Given the description of an element on the screen output the (x, y) to click on. 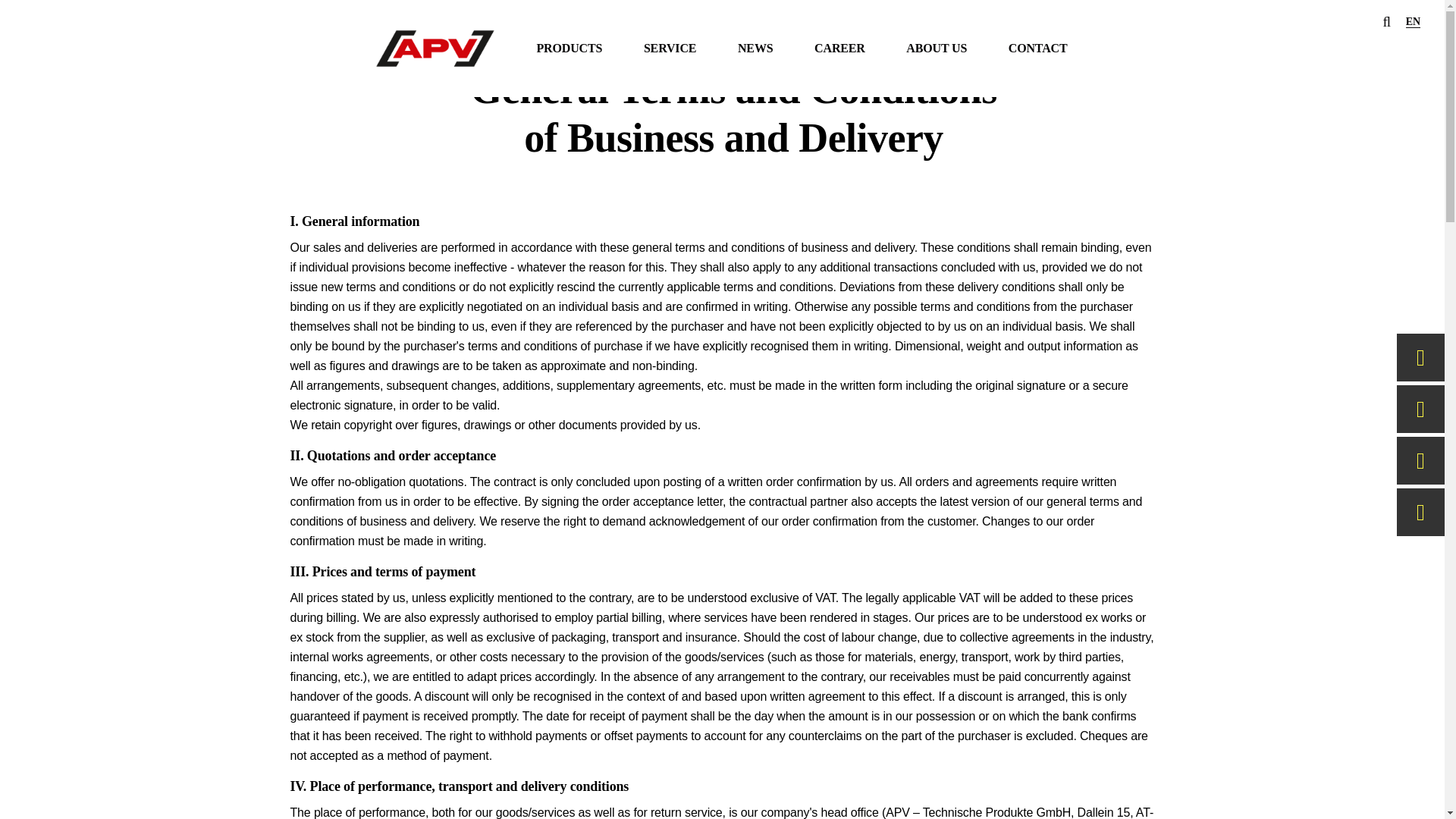
EN (1413, 21)
PRODUCTS (568, 48)
SERVICE (669, 48)
to Menu (68, 52)
